Given the description of an element on the screen output the (x, y) to click on. 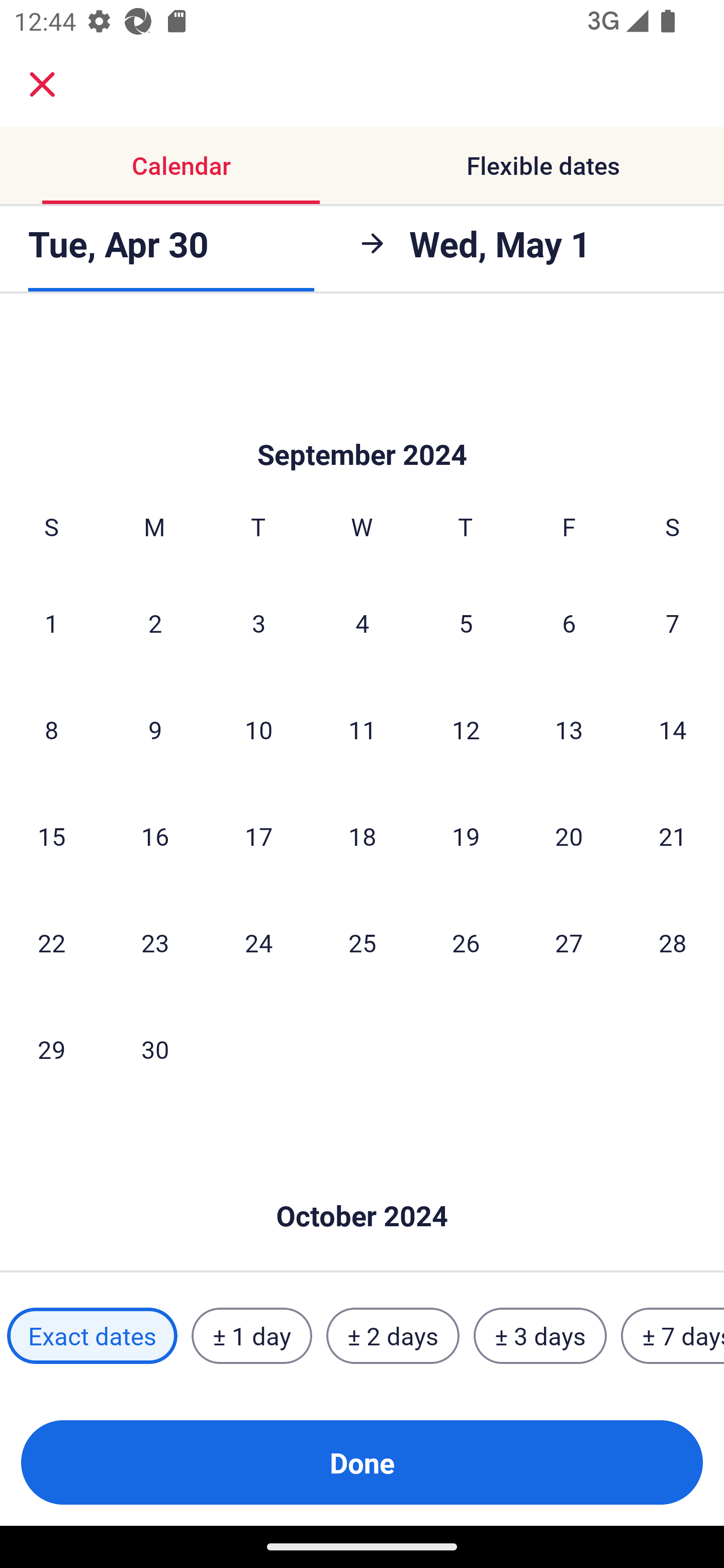
close. (42, 84)
Flexible dates (542, 164)
Skip to Done (362, 424)
1 Sunday, September 1, 2024 (51, 622)
2 Monday, September 2, 2024 (155, 622)
3 Tuesday, September 3, 2024 (258, 622)
4 Wednesday, September 4, 2024 (362, 622)
5 Thursday, September 5, 2024 (465, 622)
6 Friday, September 6, 2024 (569, 622)
7 Saturday, September 7, 2024 (672, 622)
8 Sunday, September 8, 2024 (51, 728)
9 Monday, September 9, 2024 (155, 728)
10 Tuesday, September 10, 2024 (258, 728)
11 Wednesday, September 11, 2024 (362, 728)
12 Thursday, September 12, 2024 (465, 728)
13 Friday, September 13, 2024 (569, 728)
14 Saturday, September 14, 2024 (672, 728)
15 Sunday, September 15, 2024 (51, 835)
16 Monday, September 16, 2024 (155, 835)
17 Tuesday, September 17, 2024 (258, 835)
18 Wednesday, September 18, 2024 (362, 835)
19 Thursday, September 19, 2024 (465, 835)
20 Friday, September 20, 2024 (569, 835)
21 Saturday, September 21, 2024 (672, 835)
22 Sunday, September 22, 2024 (51, 942)
23 Monday, September 23, 2024 (155, 942)
24 Tuesday, September 24, 2024 (258, 942)
25 Wednesday, September 25, 2024 (362, 942)
26 Thursday, September 26, 2024 (465, 942)
27 Friday, September 27, 2024 (569, 942)
28 Saturday, September 28, 2024 (672, 942)
29 Sunday, September 29, 2024 (51, 1048)
30 Monday, September 30, 2024 (155, 1048)
Skip to Done (362, 1185)
Exact dates (92, 1335)
± 1 day (251, 1335)
± 2 days (392, 1335)
± 3 days (539, 1335)
± 7 days (672, 1335)
Done (361, 1462)
